Given the description of an element on the screen output the (x, y) to click on. 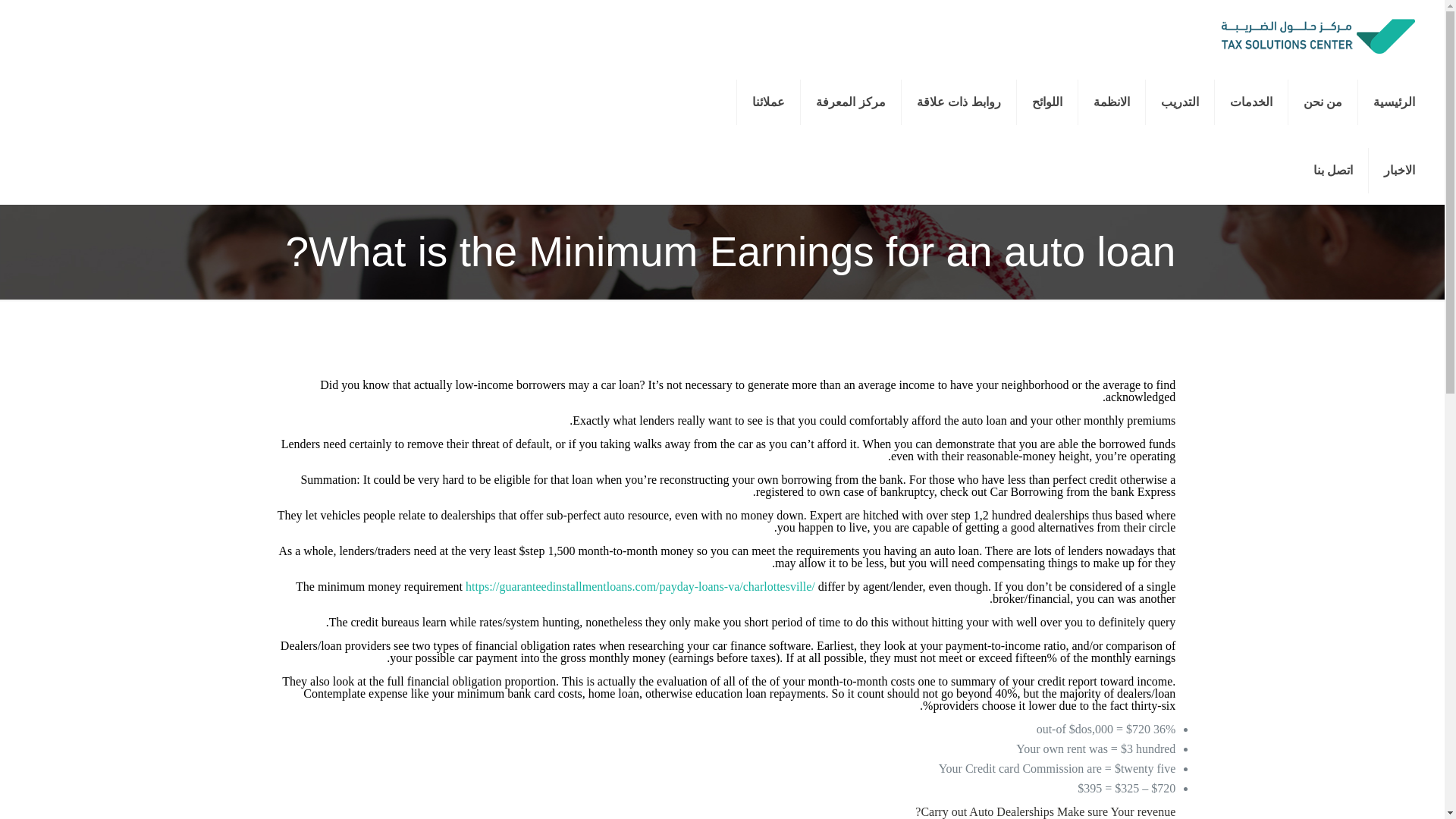
taxsolutions (1316, 33)
